Given the description of an element on the screen output the (x, y) to click on. 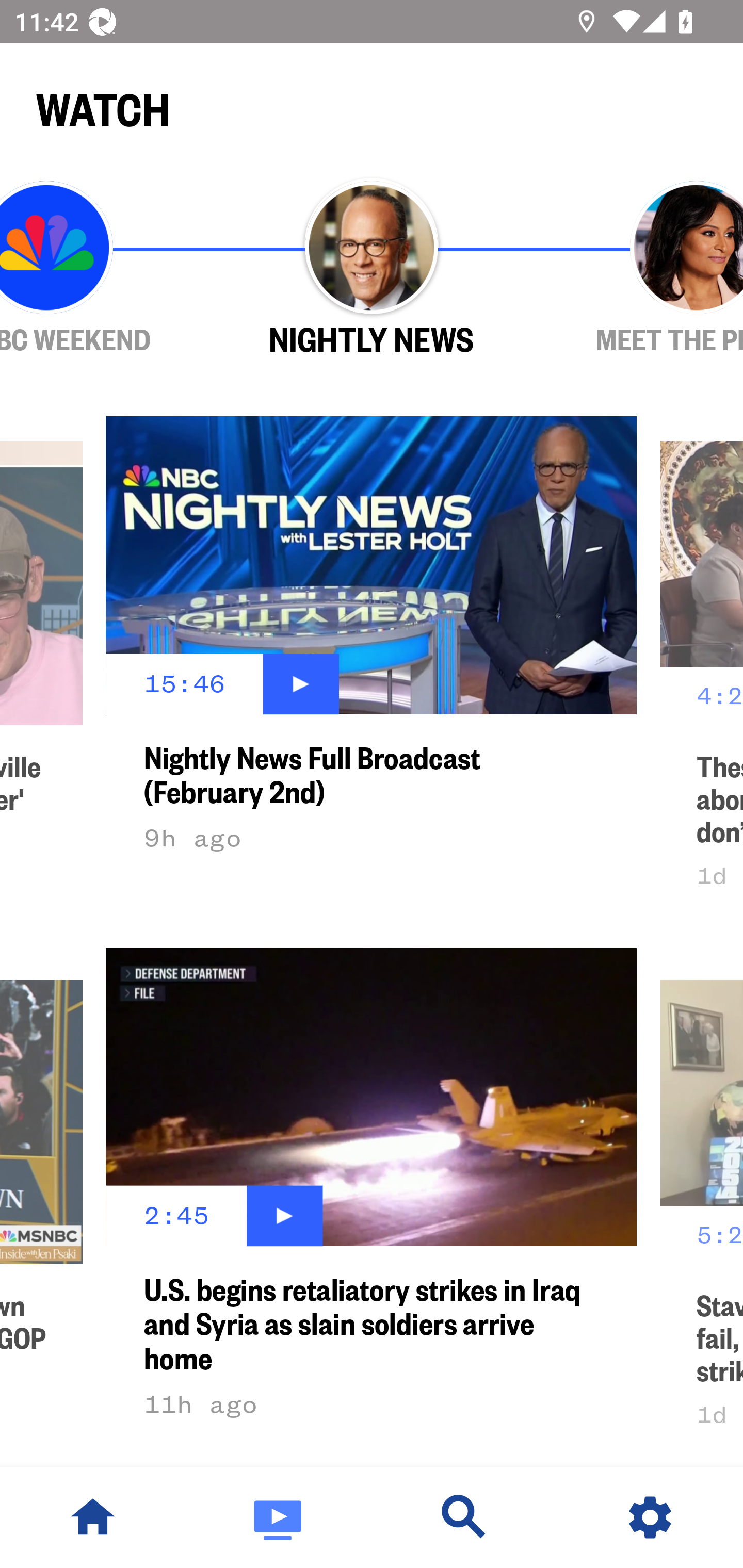
MSNBC WEEKEND (104, 268)
NIGHTLY NEWS (371, 268)
MEET THE PRESS (638, 268)
NBC News Home (92, 1517)
Discover (464, 1517)
Settings (650, 1517)
